Given the description of an element on the screen output the (x, y) to click on. 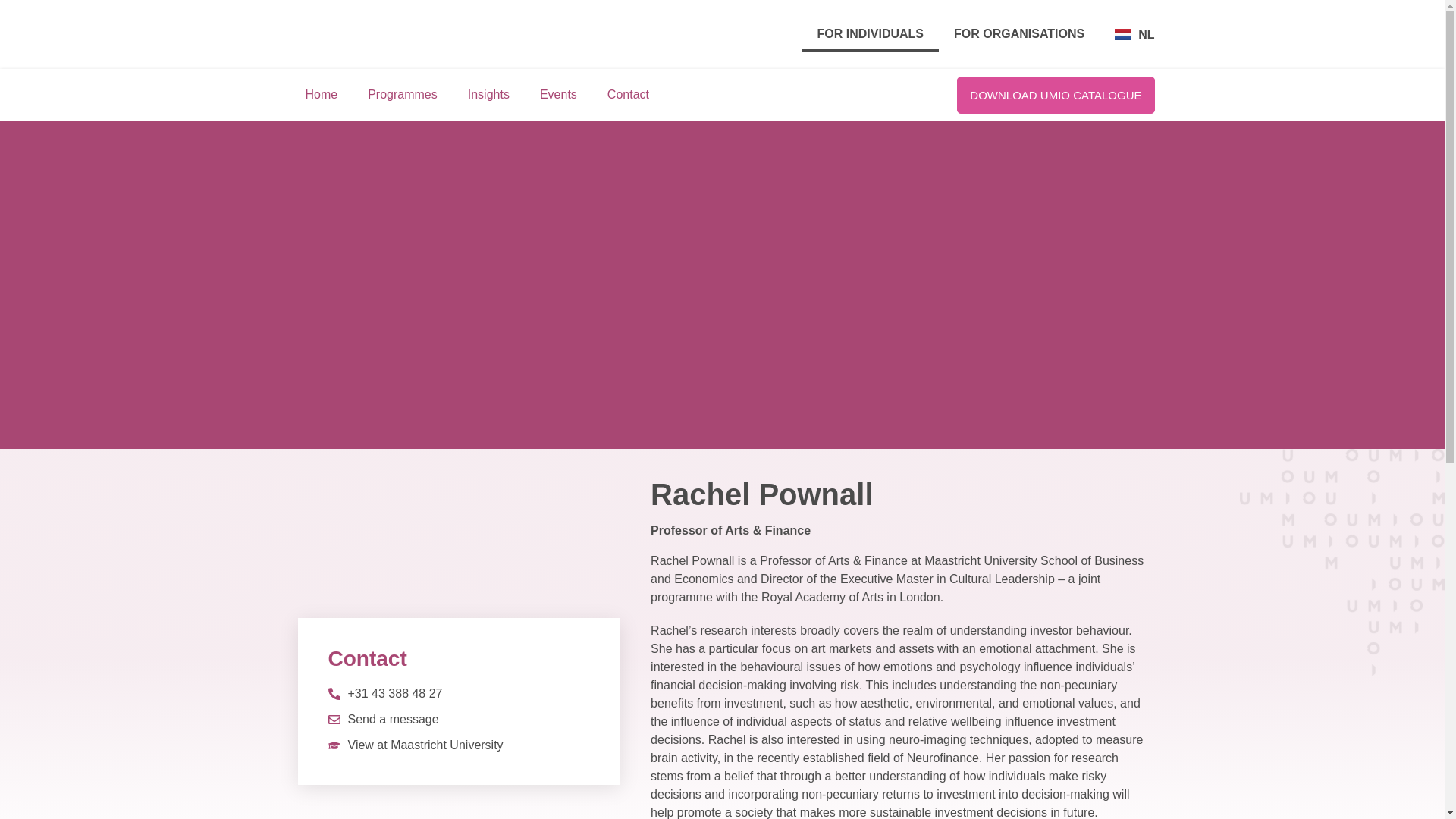
Send a message (382, 719)
Events (558, 94)
Programmes (402, 94)
FOR INDIVIDUALS (870, 33)
FOR ORGANISATIONS (1019, 33)
Contact (627, 94)
DOWNLOAD UMIO CATALOGUE (1055, 94)
NL (1134, 34)
Home (320, 94)
View at Maastricht University (414, 745)
